Given the description of an element on the screen output the (x, y) to click on. 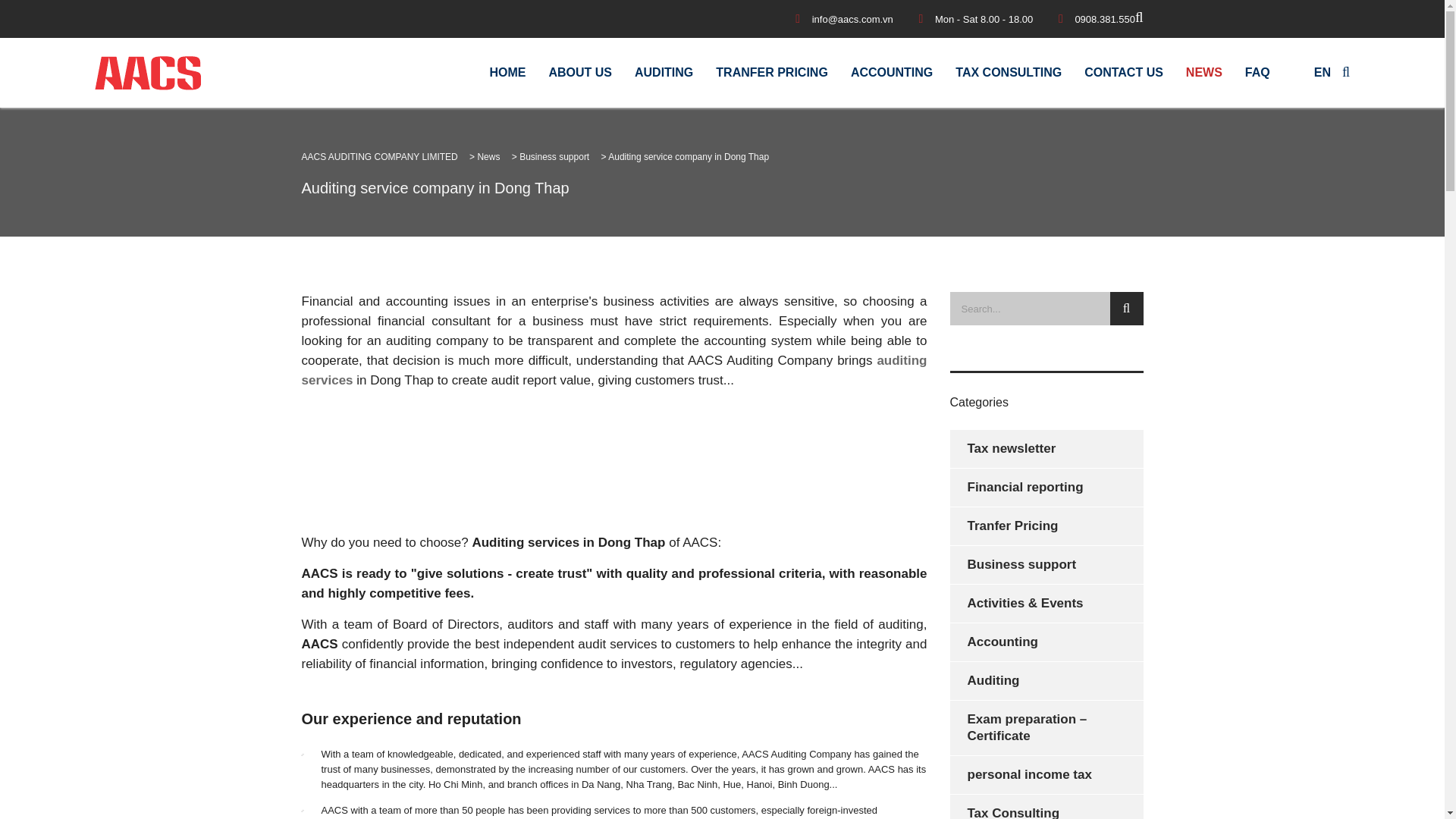
Go to AACS AUDITING COMPANY LIMITED. (379, 156)
ABOUT US (580, 72)
CONTACT US (1123, 72)
Go to the Business Support Category archives. (554, 156)
NEWS (1203, 72)
0908.381.550 (1104, 19)
Auditing Service Company in Dong Thap 3 (614, 459)
AUDITING (663, 72)
HOME (507, 72)
Go to Auditing service company in Dong Thap. (688, 156)
TAX CONSULTING (1008, 72)
ACCOUNTING (891, 72)
Go to News. (488, 156)
TRANFER PRICING (772, 72)
English (1303, 71)
